Given the description of an element on the screen output the (x, y) to click on. 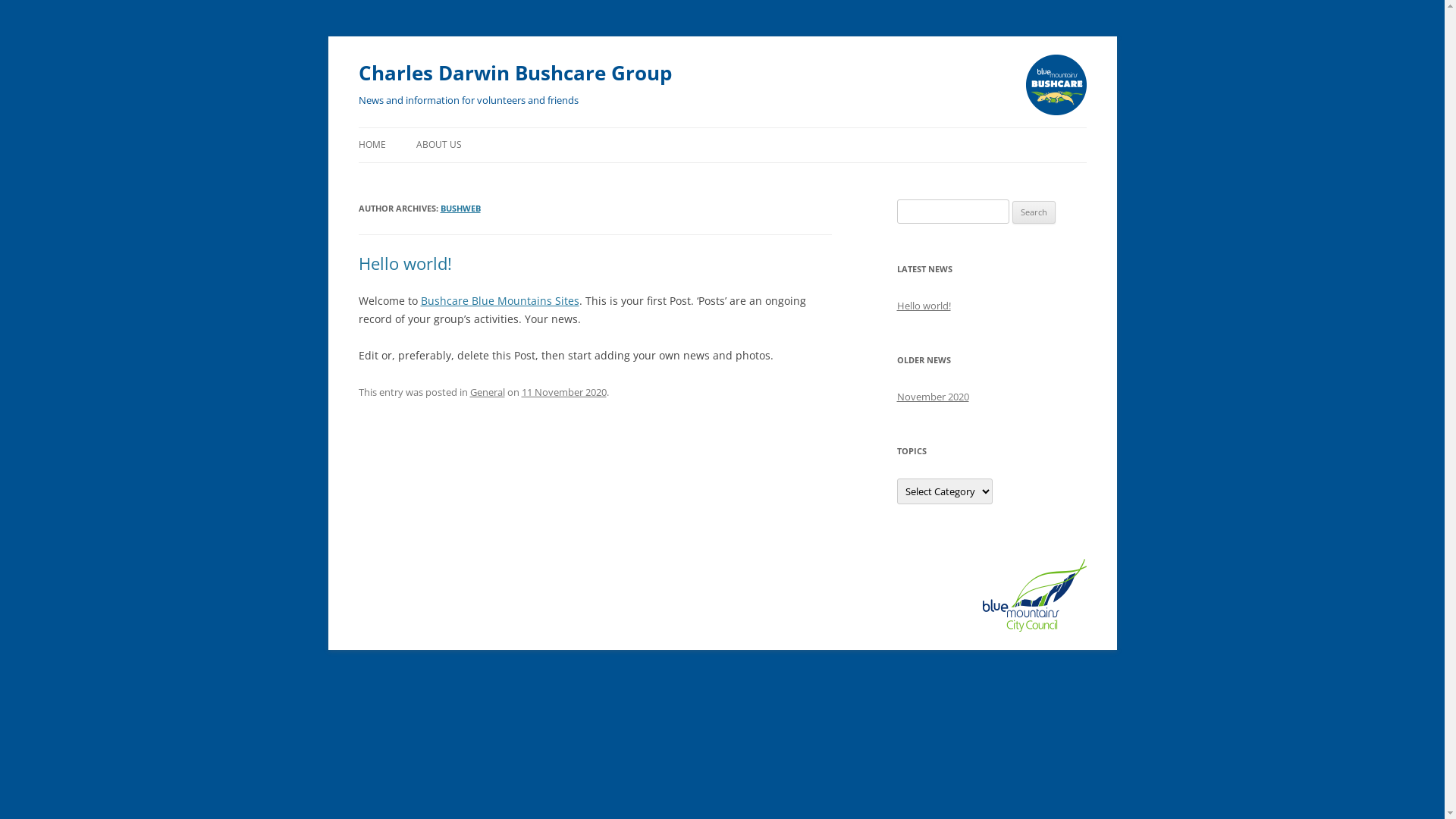
General Element type: text (487, 391)
Hello world! Element type: text (923, 305)
Skip to content Element type: text (357, 145)
BUSHWEB Element type: text (459, 207)
ABOUT US Element type: text (438, 144)
November 2020 Element type: text (932, 396)
Charles Darwin Bushcare Group Element type: text (514, 72)
11 November 2020 Element type: text (563, 391)
HOME Element type: text (371, 144)
Hello world! Element type: text (404, 262)
Search Element type: text (1033, 211)
Bushcare Blue Mountains Sites Element type: text (499, 300)
